Given the description of an element on the screen output the (x, y) to click on. 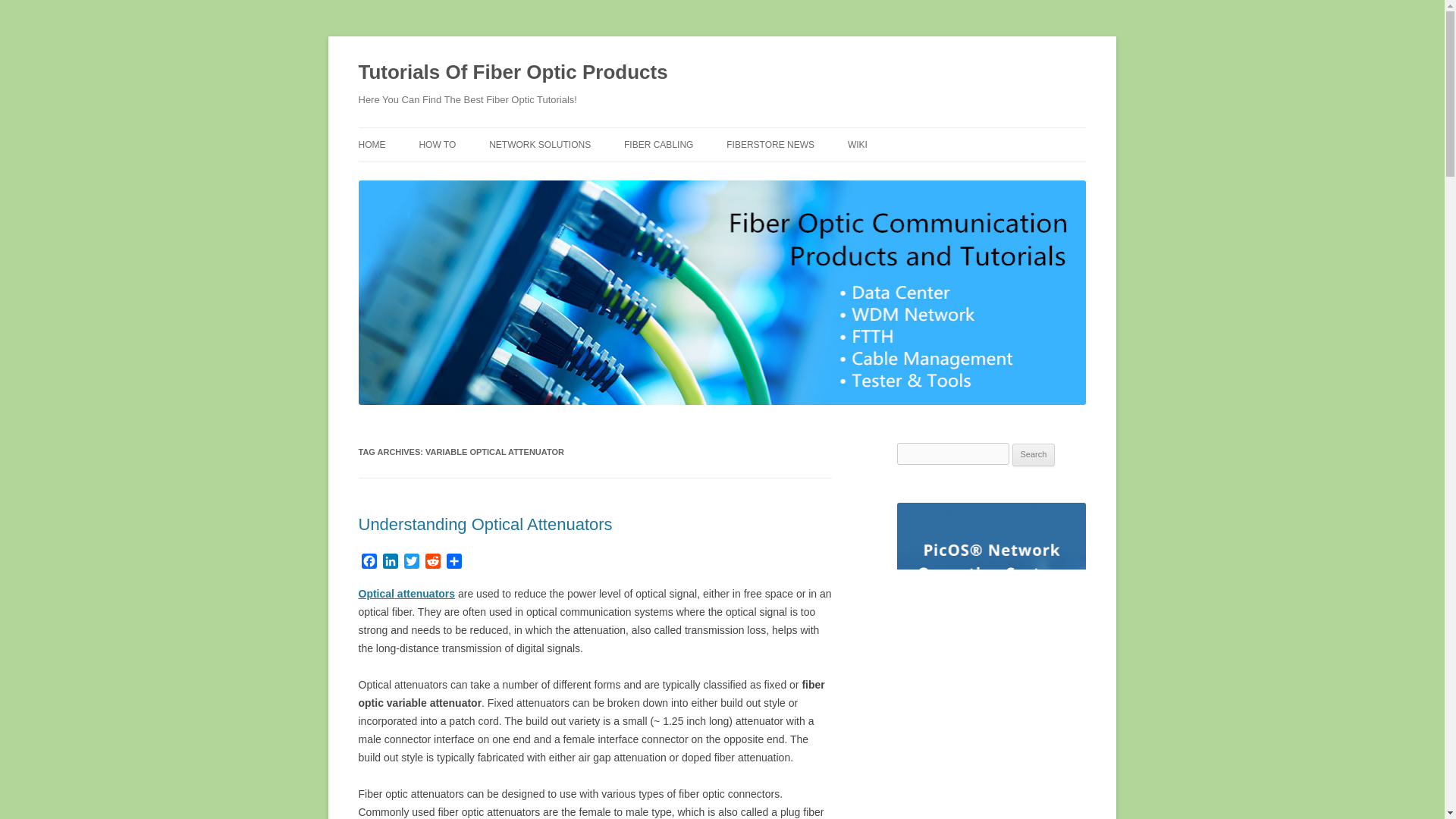
Reddit (432, 562)
Tutorials Of Fiber Optic Products (512, 72)
Search (1033, 454)
Tutorials Of Fiber Optic Products (512, 72)
FIBERSTORE NEWS (769, 144)
Understanding Optical Attenuators (484, 524)
FIBER CABLING (658, 144)
Facebook (368, 562)
